Given the description of an element on the screen output the (x, y) to click on. 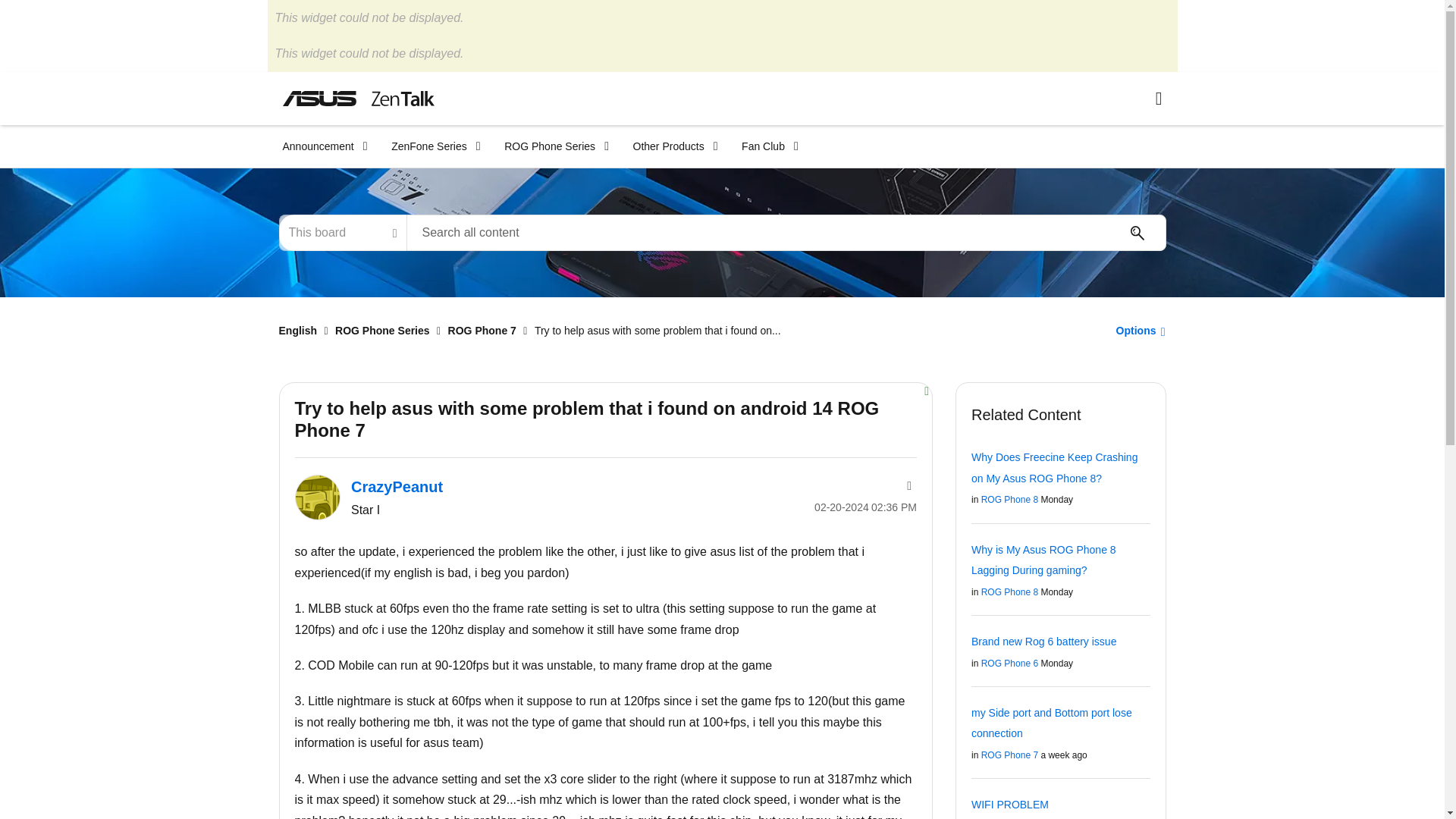
Search (1136, 232)
Search (786, 232)
Search Granularity (342, 232)
ZenFone Series (430, 146)
Announcement (319, 146)
CrazyPeanut (316, 497)
Search (1136, 232)
Show option menu (907, 485)
ASUS - ZenTalk (357, 97)
Show option menu (1136, 330)
ROG Phone Series (551, 146)
Other Products (669, 146)
